Given the description of an element on the screen output the (x, y) to click on. 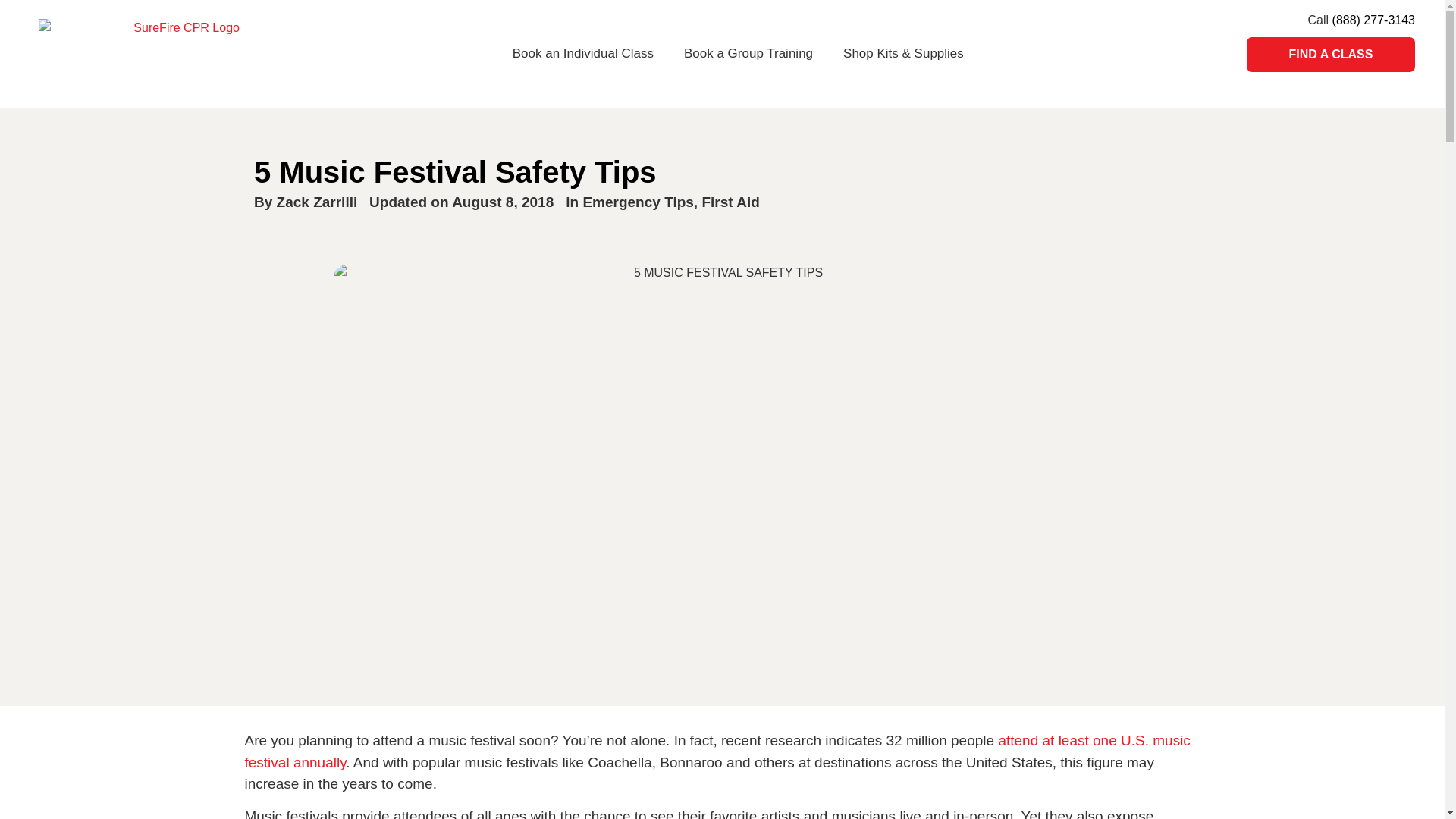
Book an Individual Class (582, 53)
Click to book a group training (748, 53)
SureFire CPR (180, 53)
Emergency Tips (637, 201)
FIND A CLASS (1330, 54)
Book a Group Training (748, 53)
Click to book an individual class (582, 53)
Click to find a class (1330, 54)
attend at least one U.S. music festival annually (716, 751)
First Aid (729, 201)
